Given the description of an element on the screen output the (x, y) to click on. 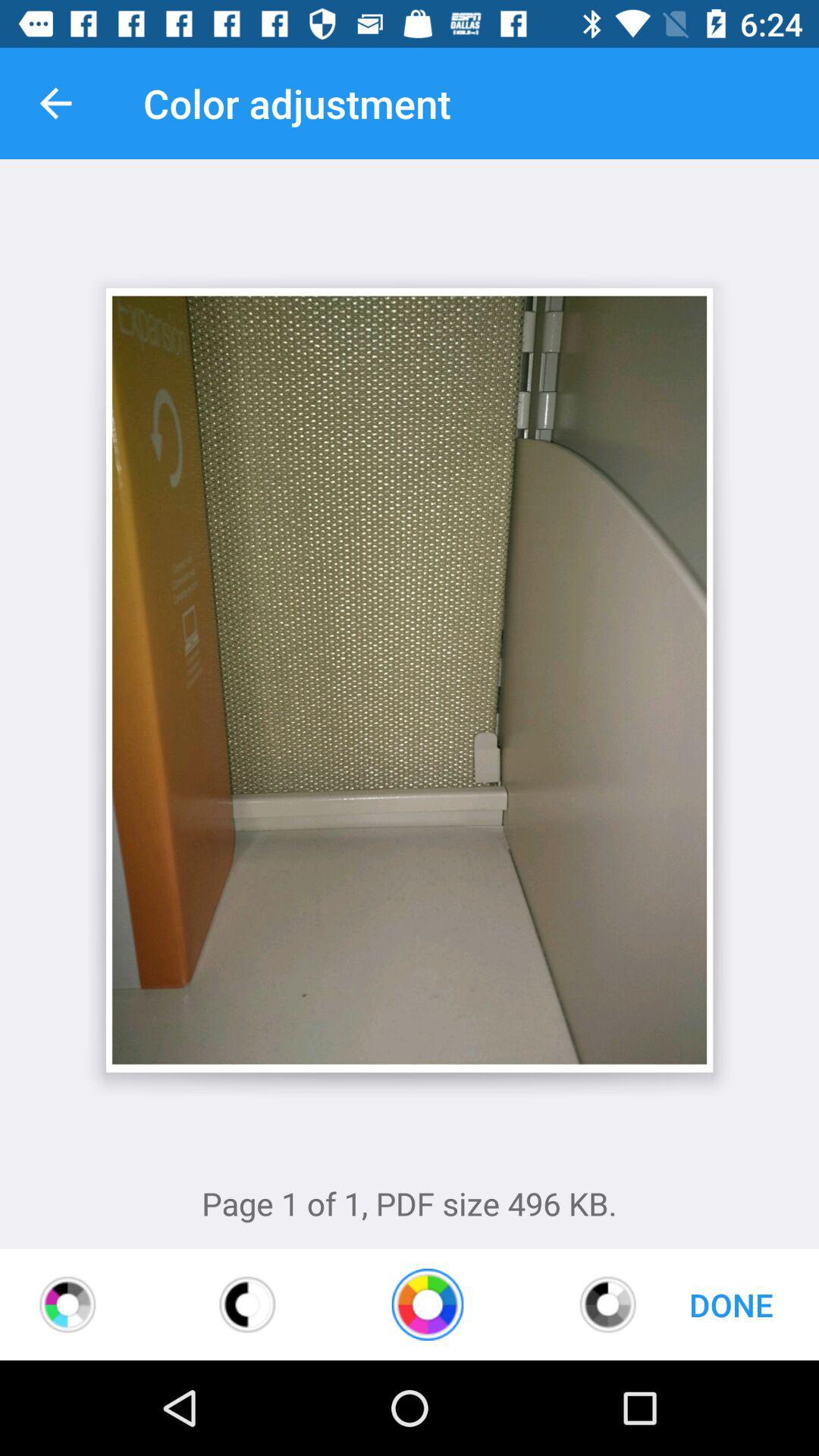
choose icon below the page 1 of icon (427, 1304)
